Given the description of an element on the screen output the (x, y) to click on. 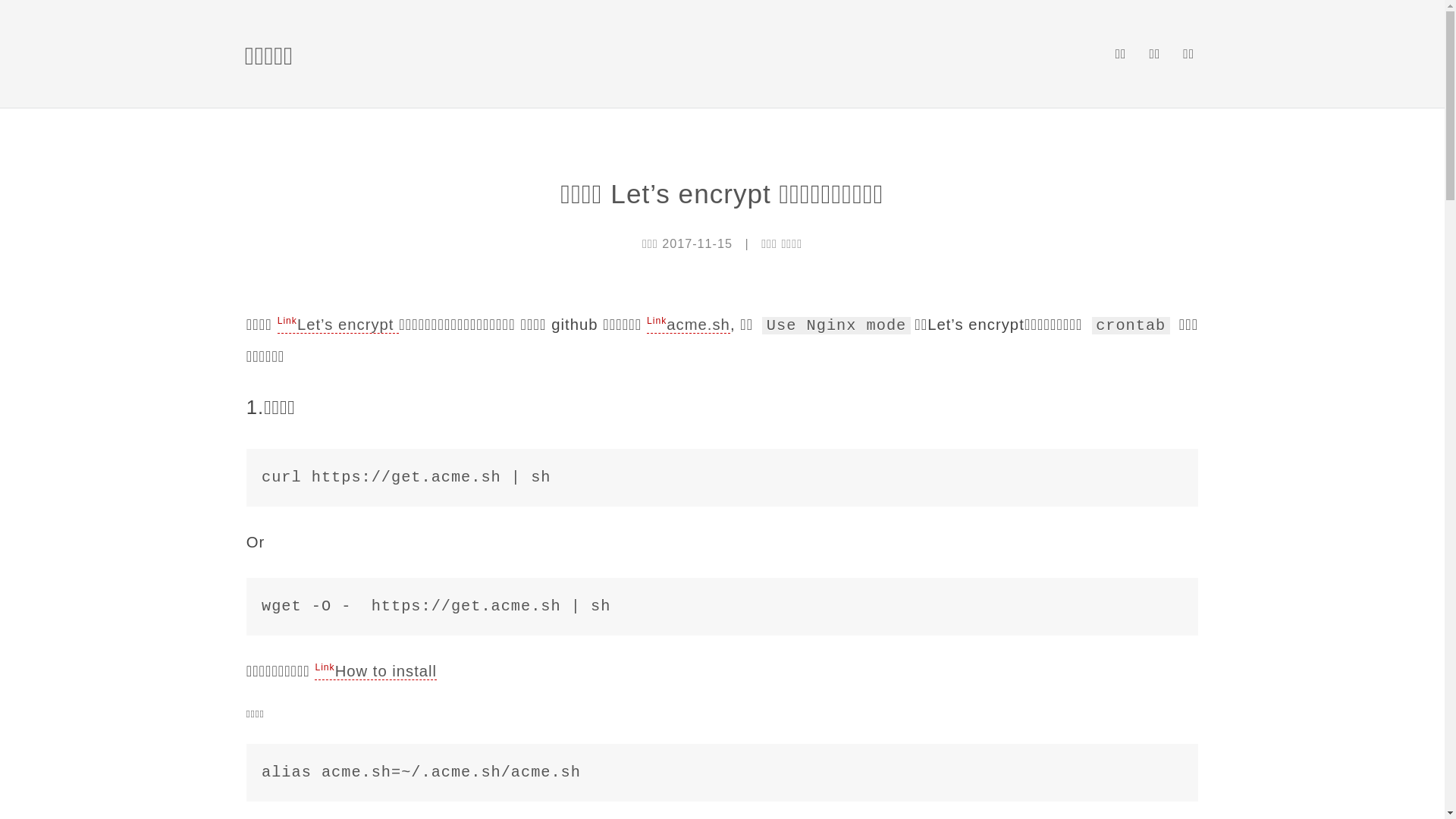
acme.sh Element type: text (688, 324)
How to install Element type: text (375, 671)
